Given the description of an element on the screen output the (x, y) to click on. 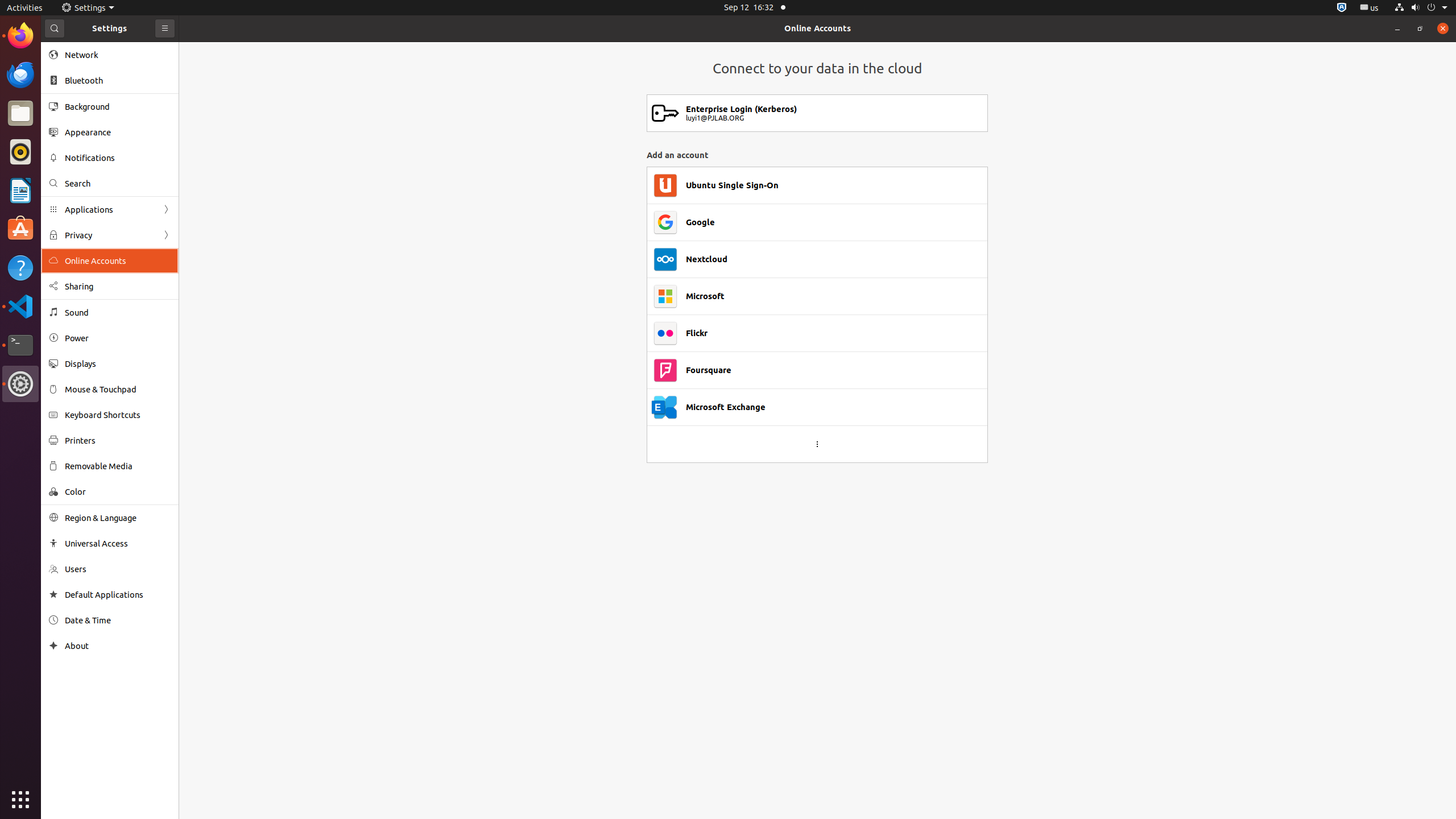
Region & Language Element type: label (117, 517)
Privacy Element type: label (109, 235)
Google Element type: label (699, 222)
